Given the description of an element on the screen output the (x, y) to click on. 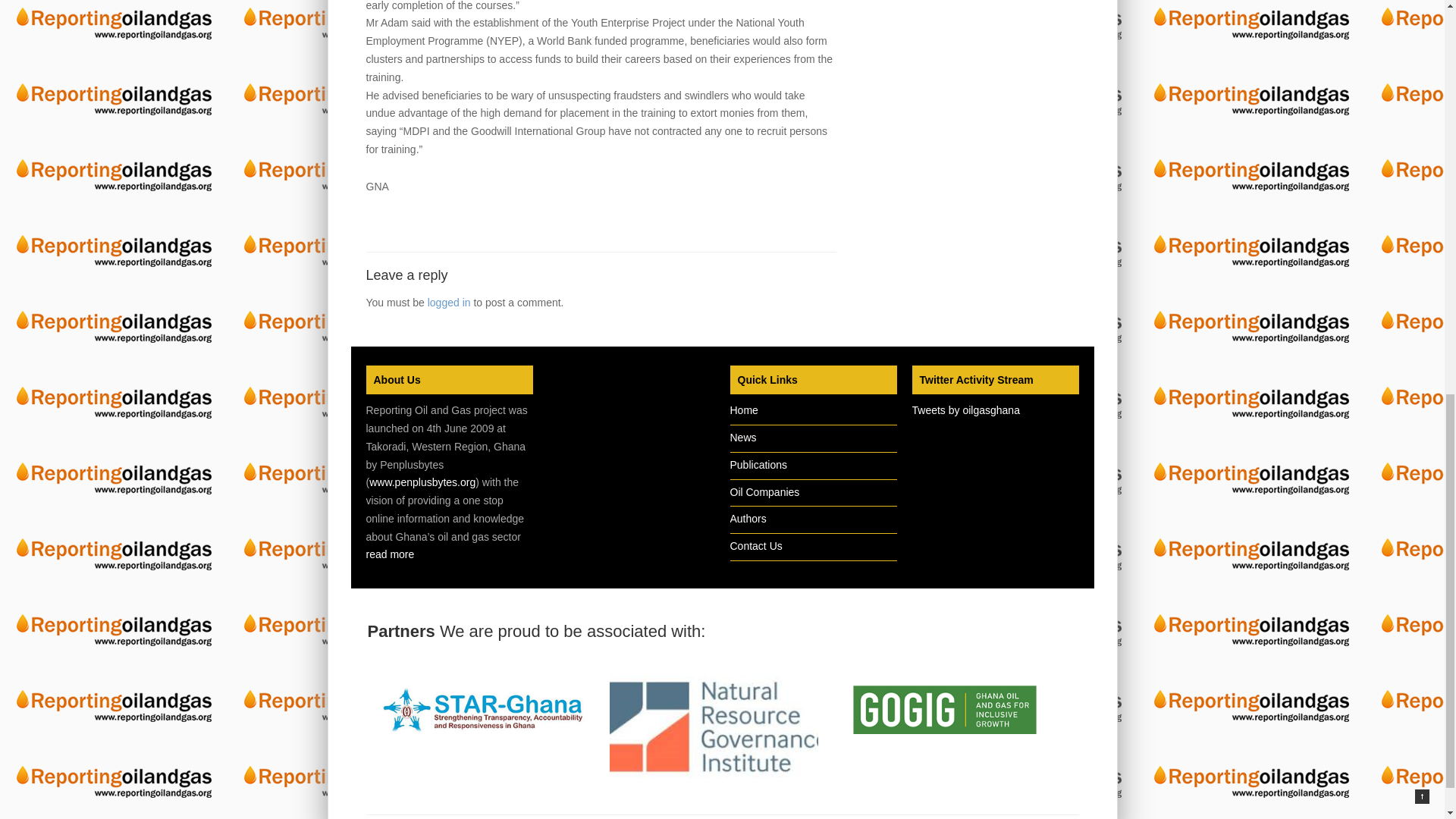
News (742, 437)
Publications (758, 464)
read more (389, 553)
Tweets by oilgasghana (965, 410)
logged in (449, 302)
Authors (747, 518)
www.penplusbytes.org (422, 481)
Scroll to top (1422, 3)
Home (743, 410)
Contact Us (755, 545)
Oil Companies (764, 491)
